Given the description of an element on the screen output the (x, y) to click on. 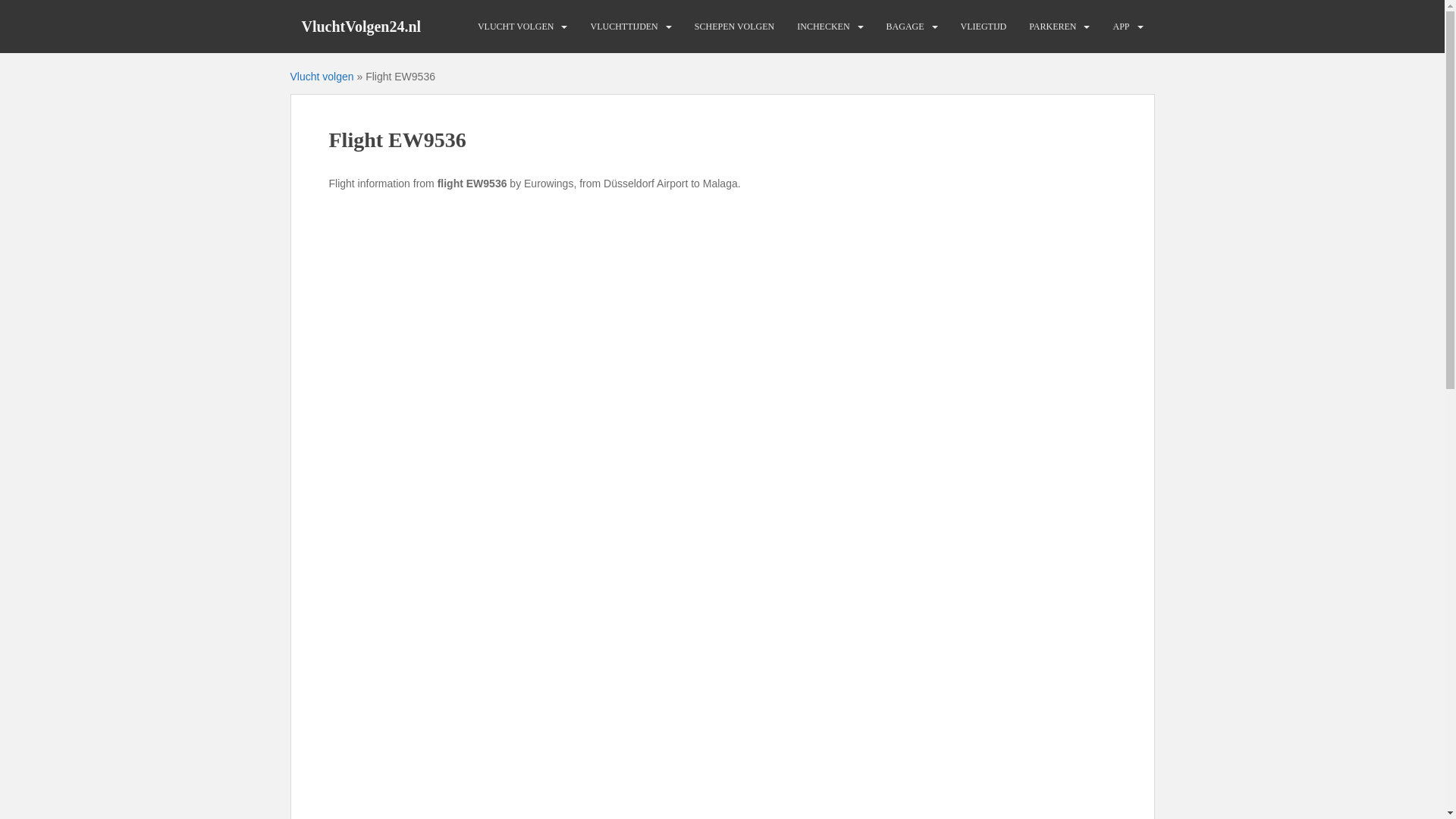
SCHEPEN VOLGEN (734, 26)
VLUCHT VOLGEN (515, 26)
VLUCHTTIJDEN (623, 26)
Vlucht volgen (515, 26)
INCHECKEN (822, 26)
VluchtVolgen24.nl (360, 26)
VluchtVolgen24.nl (360, 26)
Vluchttijden (623, 26)
BAGAGE (905, 26)
